Given the description of an element on the screen output the (x, y) to click on. 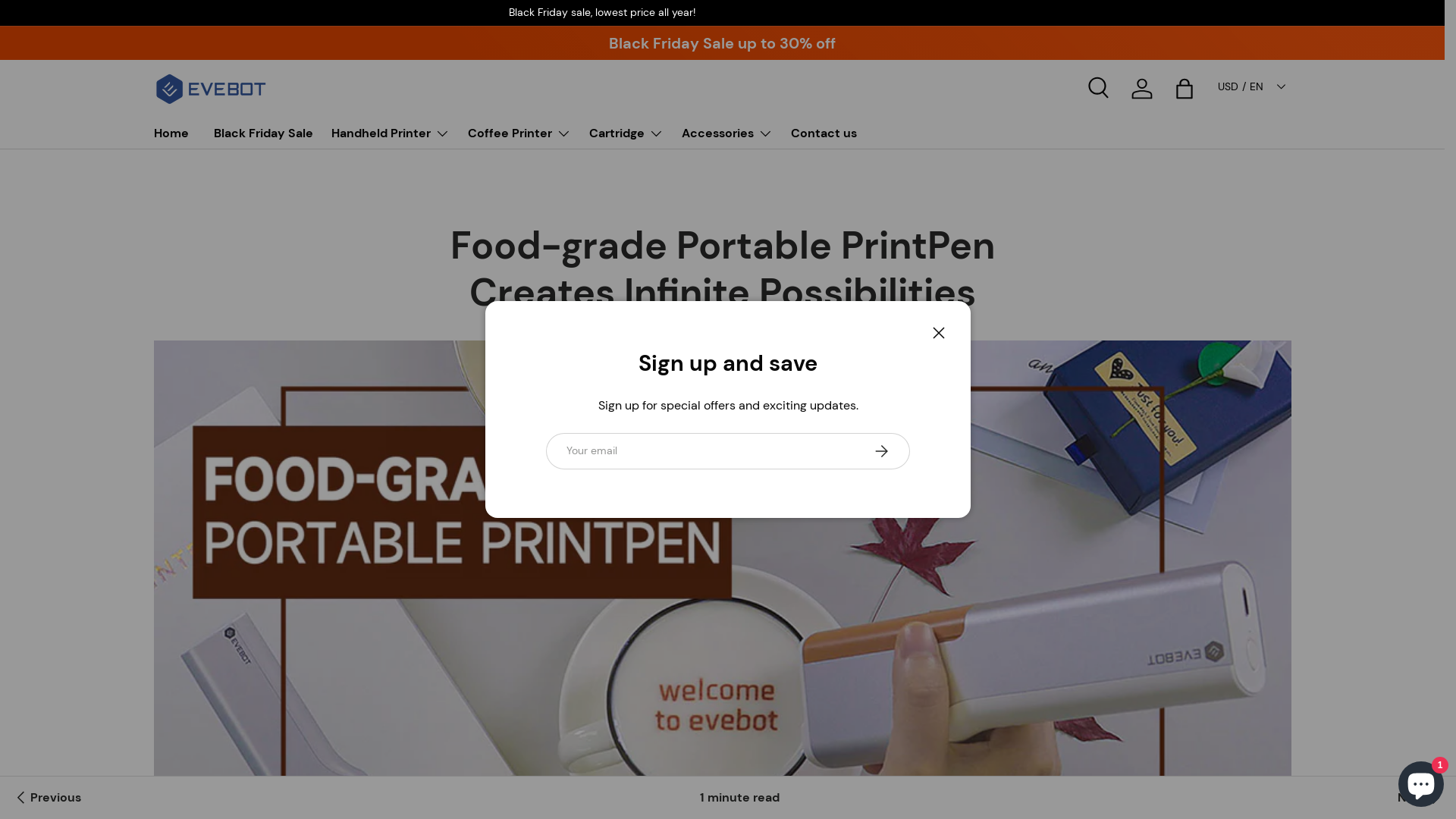
Contact us Element type: text (823, 132)
Handheld Printer Element type: text (389, 133)
Bag Element type: text (1184, 88)
Cartridge Element type: text (625, 133)
Shopify online store chat Element type: hover (1420, 780)
Home Element type: text (170, 132)
Subscribe Element type: text (881, 451)
Coffee Printer Element type: text (518, 133)
Skip to content Element type: text (67, 21)
Log in Element type: text (1141, 88)
Close Element type: text (938, 332)
Search Element type: text (1099, 88)
Accessories Element type: text (725, 133)
